Given the description of an element on the screen output the (x, y) to click on. 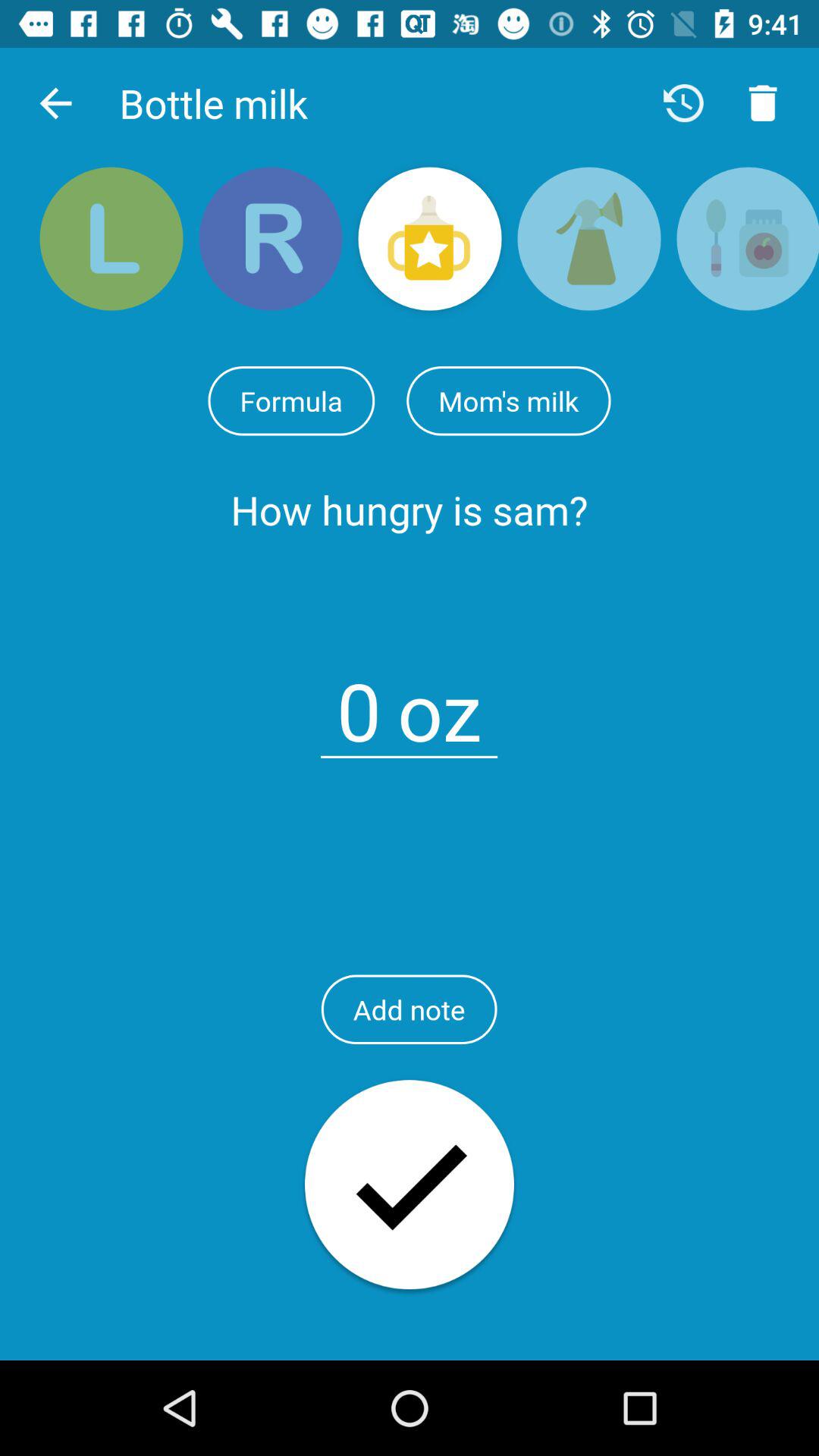
tap icon next to the mom's milk item (291, 400)
